Given the description of an element on the screen output the (x, y) to click on. 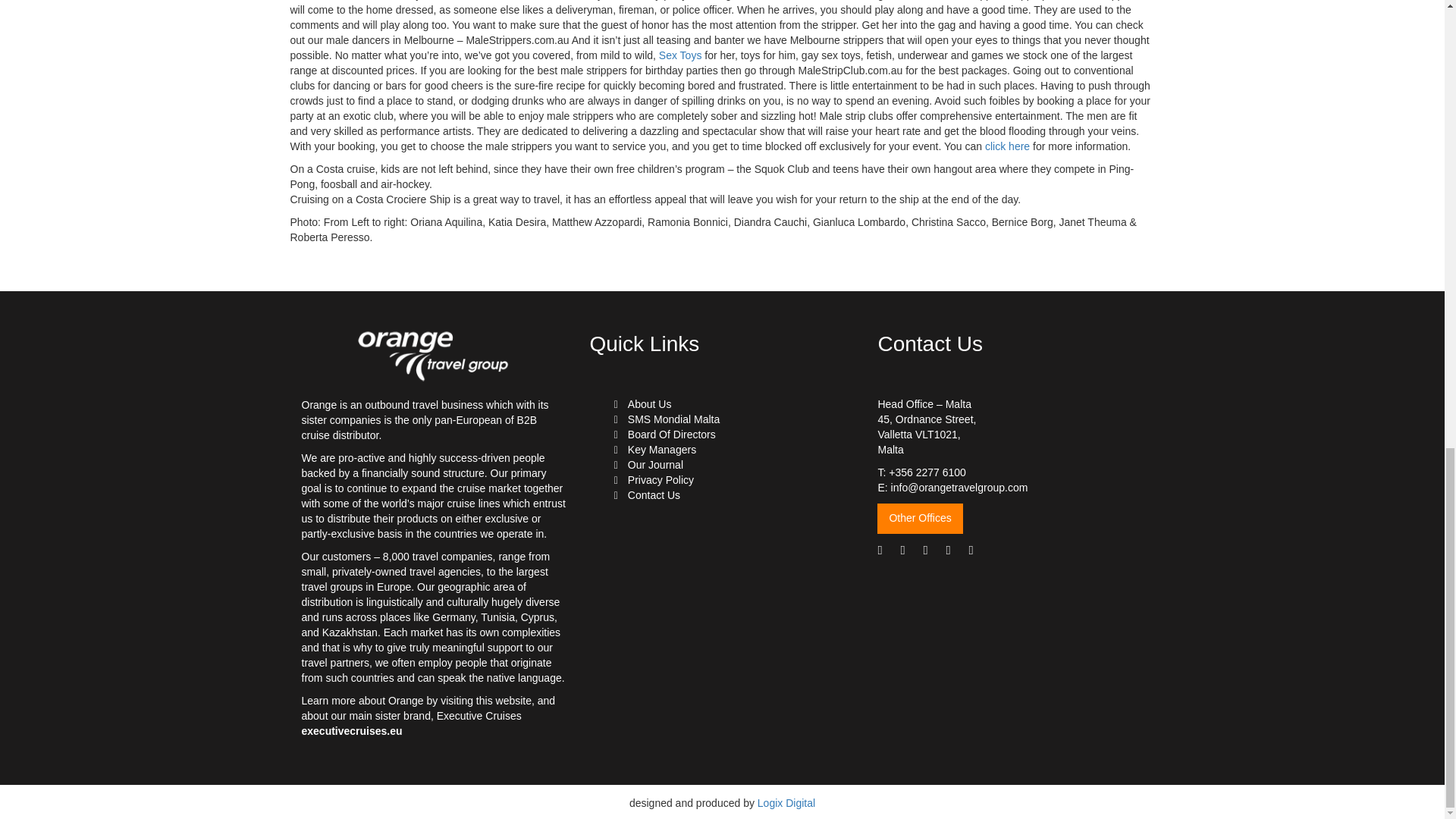
Contact Us (653, 494)
executivecruises.eu (352, 730)
Sex Toys (680, 55)
Our Journal (654, 464)
Key Managers (661, 449)
click here (1007, 146)
SMS Mondial Malta (673, 419)
Privacy Policy (660, 480)
About Us (649, 404)
Board Of Directors (671, 434)
